Given the description of an element on the screen output the (x, y) to click on. 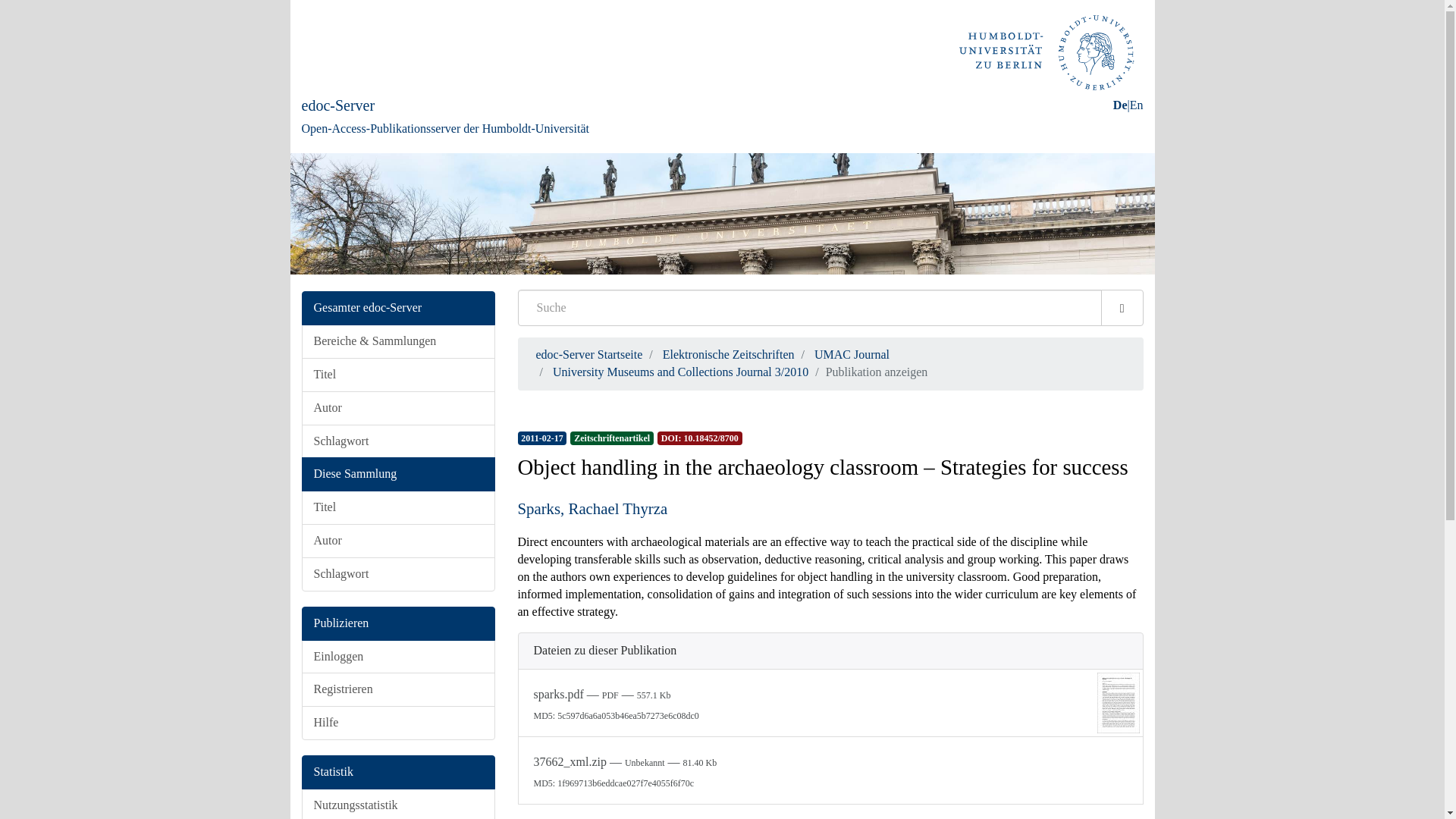
Autor (398, 408)
Los (1121, 307)
En (1135, 104)
Nutzungsstatistik (398, 803)
De (1119, 104)
Titel (398, 374)
Gesamter edoc-Server (398, 308)
Hilfe (398, 722)
Titel (398, 507)
Publizieren (398, 623)
